Given the description of an element on the screen output the (x, y) to click on. 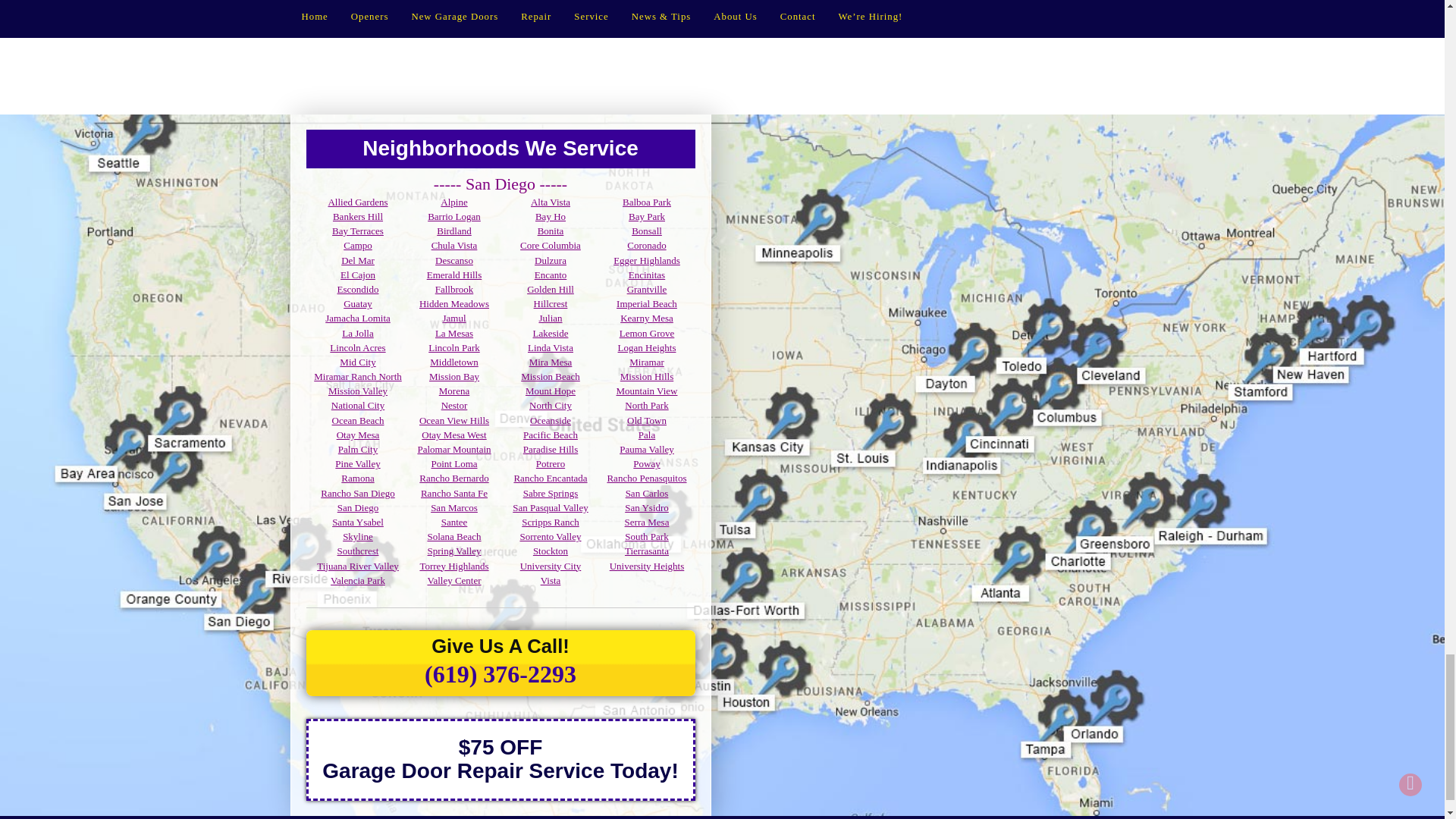
Alpine (454, 202)
----- San Diego ----- (500, 183)
Allied Gardens (357, 202)
Alta Vista (550, 202)
